Given the description of an element on the screen output the (x, y) to click on. 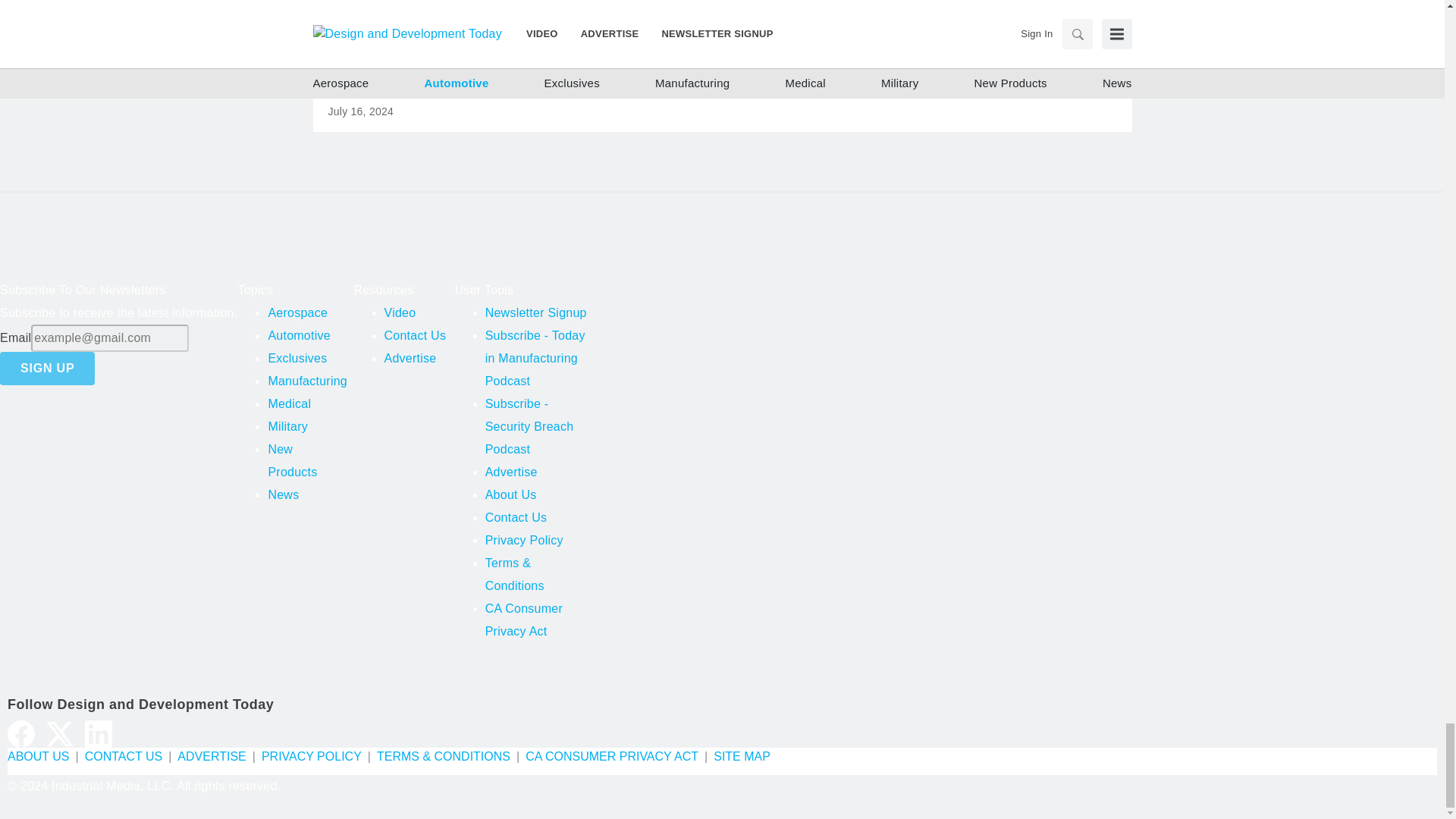
Facebook icon (20, 733)
Twitter X icon (60, 733)
LinkedIn icon (98, 733)
